Given the description of an element on the screen output the (x, y) to click on. 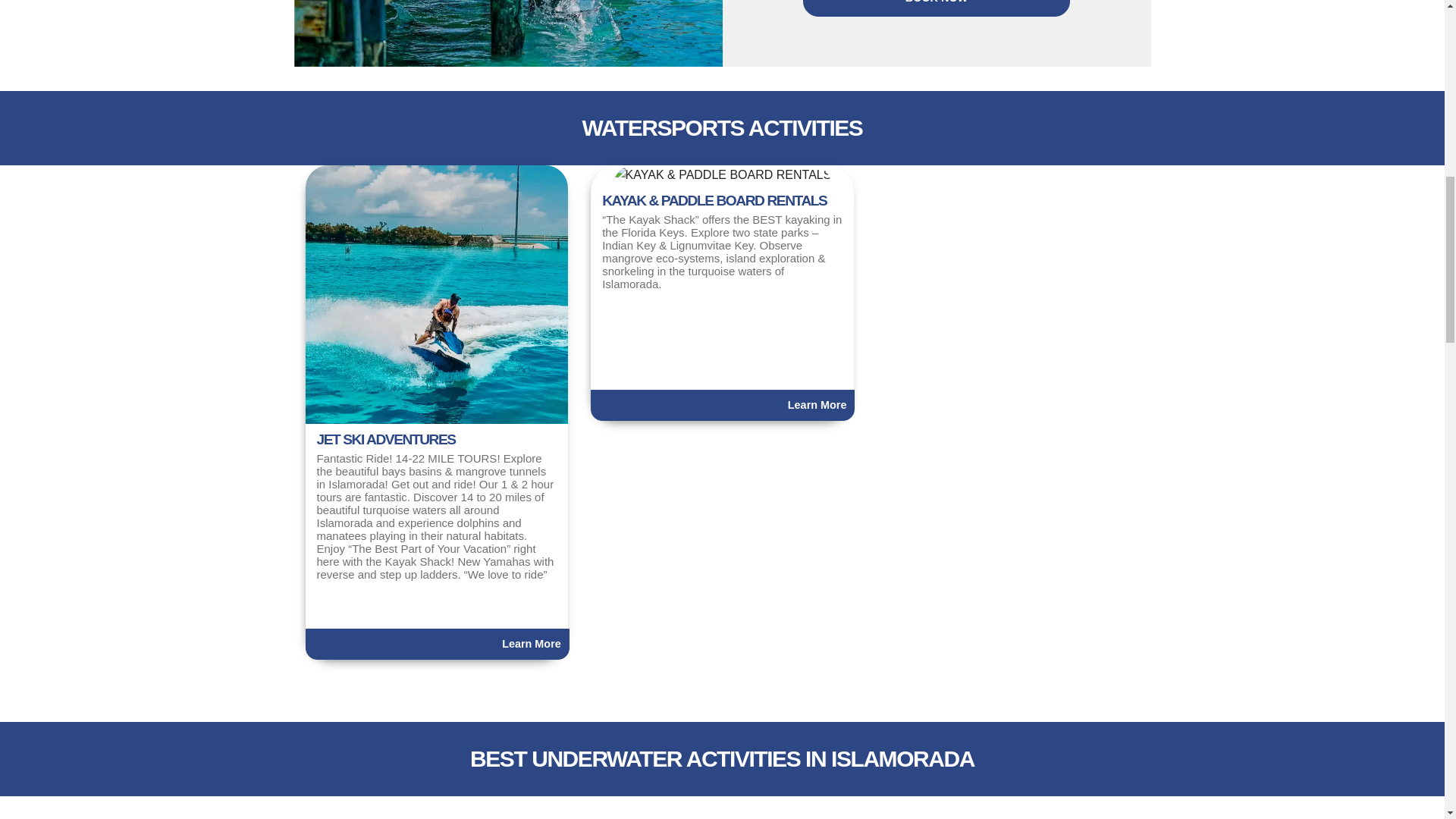
JET SKI ADVENTURES (435, 295)
Tarpon Feeding in Islamorada (508, 33)
